Given the description of an element on the screen output the (x, y) to click on. 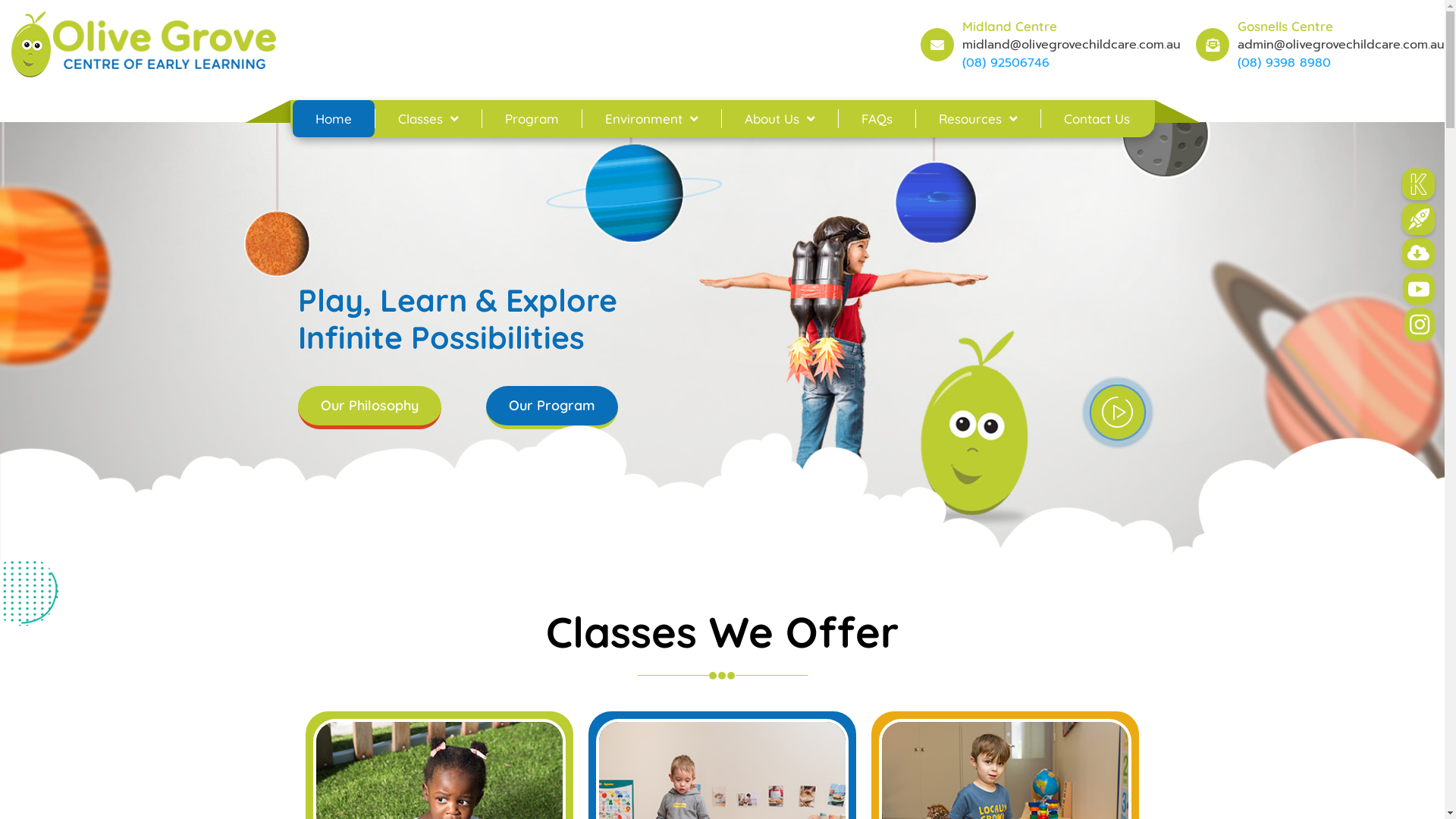
About Us Element type: text (779, 118)
Environment Element type: text (651, 118)
Home Element type: text (333, 118)
Midland Centre Element type: text (1009, 26)
Our Philosophy Element type: text (368, 407)
Classes Element type: text (427, 118)
Program Element type: text (531, 118)
Gosnells Centre Element type: text (1285, 26)
(08) 9398 8980 Element type: text (1283, 62)
Resources Element type: text (978, 118)
Contact Us Element type: text (1095, 118)
Our Program Element type: text (552, 407)
FAQs Element type: text (876, 118)
(08) 92506746 Element type: text (1005, 62)
